Given the description of an element on the screen output the (x, y) to click on. 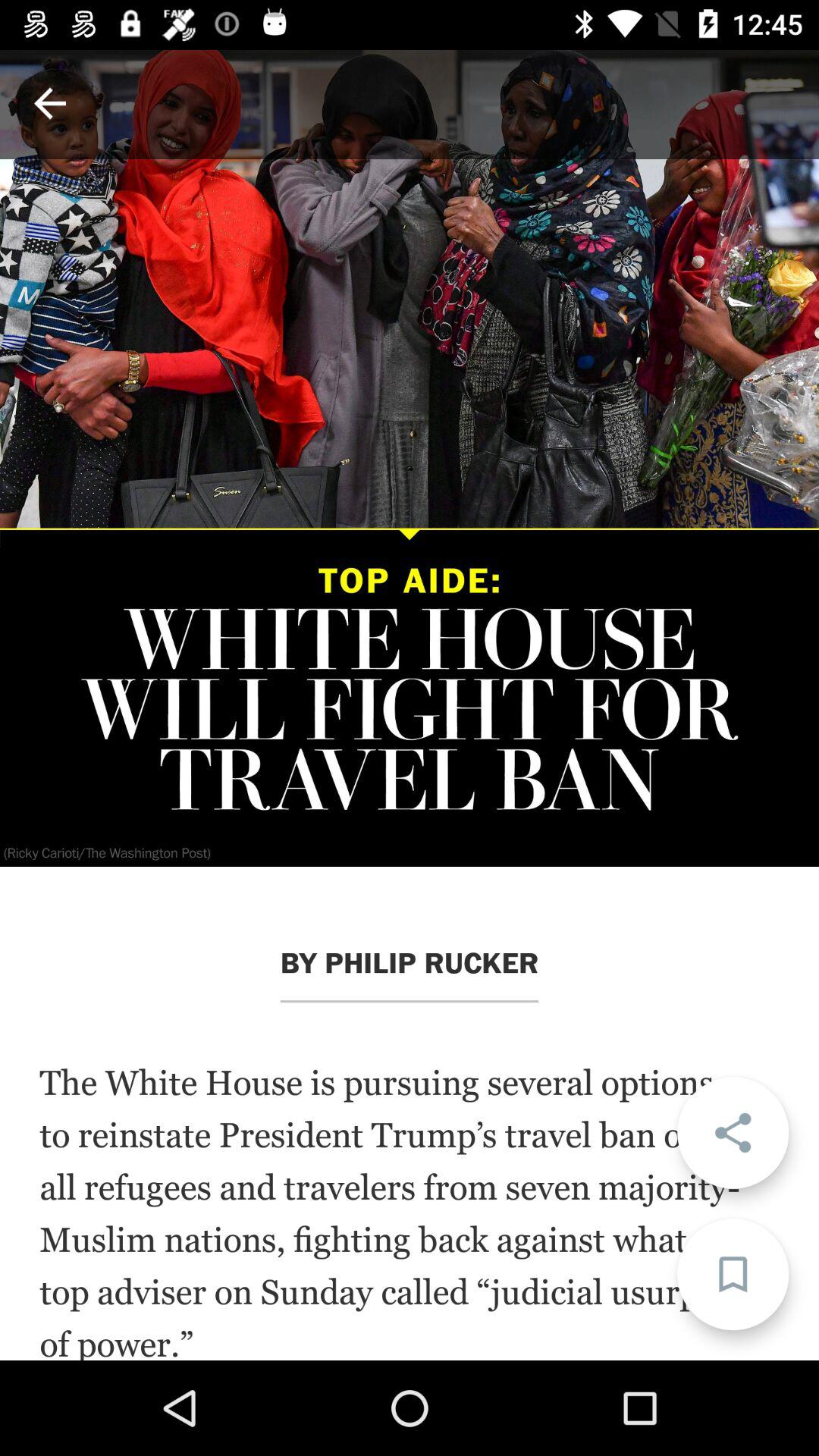
click the white house icon (409, 1211)
